Given the description of an element on the screen output the (x, y) to click on. 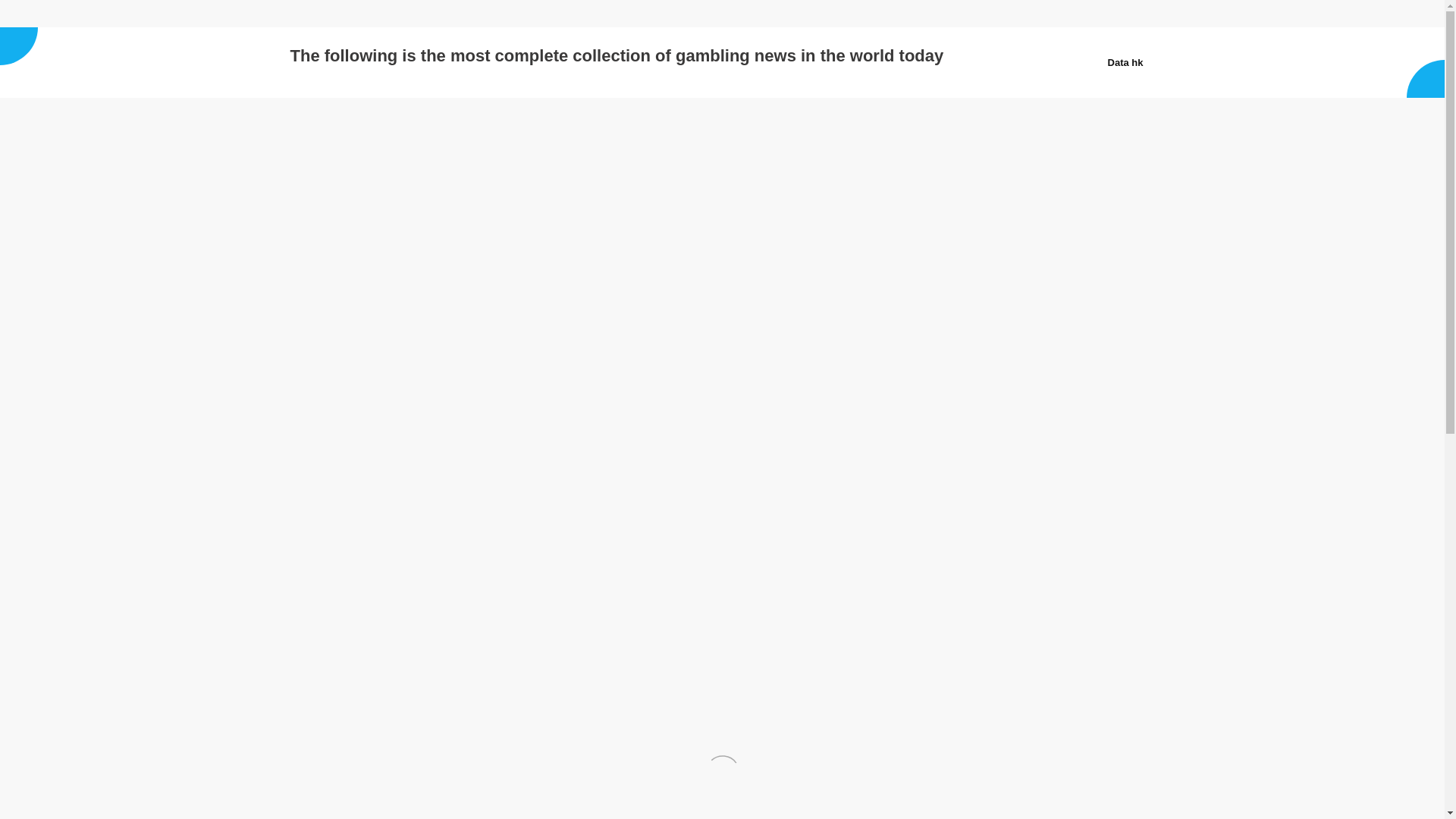
admincompare (419, 280)
Jan 13, 2022 (341, 280)
Data hk (312, 13)
How to Play the Slot Online (341, 280)
Uncategorized (512, 280)
View all posts by admincompare (419, 280)
